Given the description of an element on the screen output the (x, y) to click on. 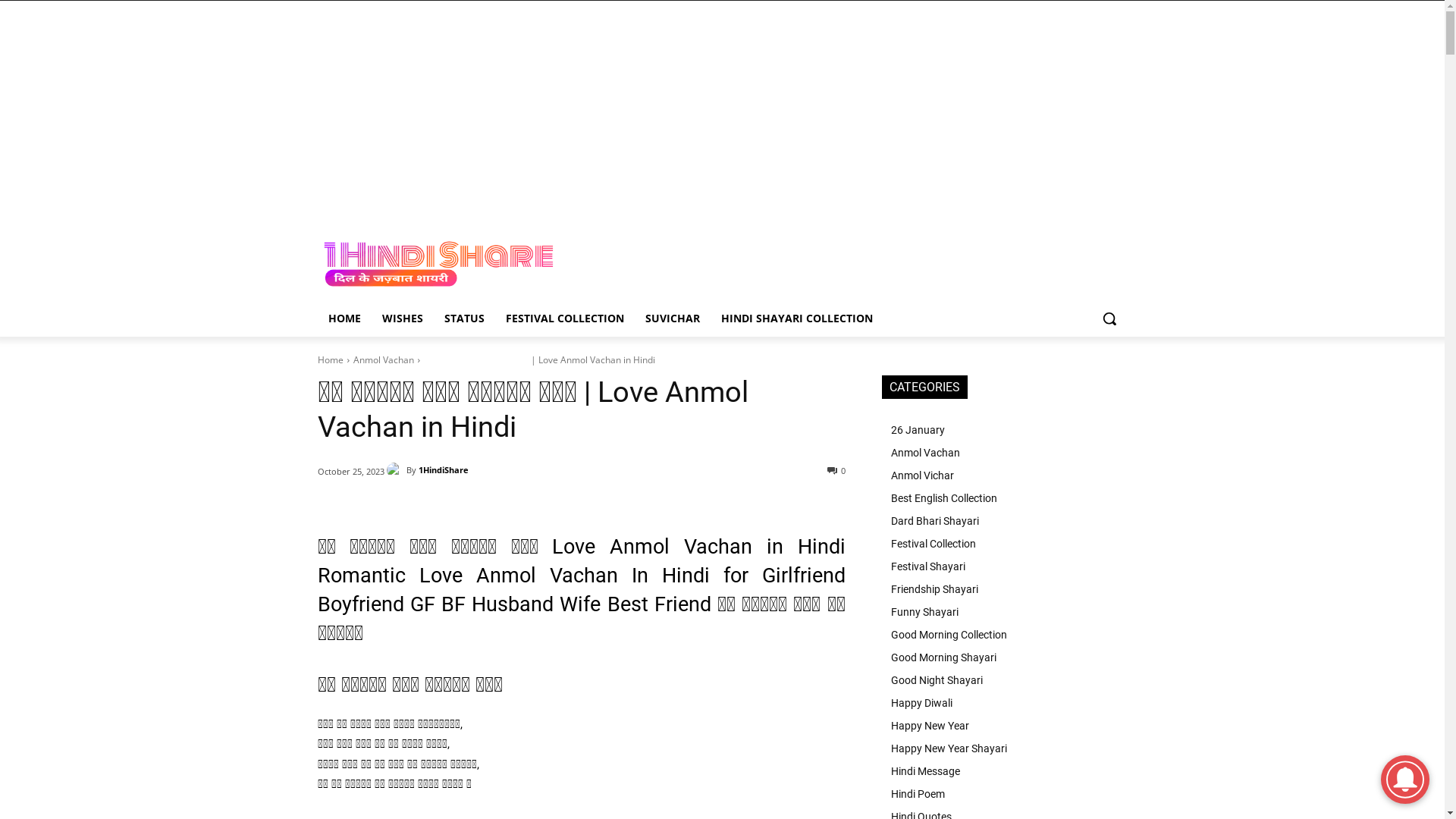
0 Element type: text (835, 469)
Good Night Shayari Element type: text (1003, 679)
26 January Element type: text (1003, 429)
WISHES Element type: text (402, 318)
FESTIVAL COLLECTION Element type: text (563, 318)
Friendship Shayari Element type: text (1003, 588)
Happy New Year Element type: text (1003, 725)
Happy Diwali Element type: text (1003, 702)
Home Element type: text (329, 359)
SUVICHAR Element type: text (671, 318)
Good Morning Shayari Element type: text (1003, 657)
Happy New Year Shayari Element type: text (1003, 748)
Good Morning Collection Element type: text (1003, 634)
Hindi Poem Element type: text (1003, 793)
Festival Collection Element type: text (1003, 543)
HOME Element type: text (343, 318)
Hindi Message Element type: text (1003, 770)
Funny Shayari Element type: text (1003, 611)
Dard Bhari Shayari Element type: text (1003, 520)
Anmol Vachan Element type: text (1003, 452)
Advertisement Element type: hover (721, 106)
1HindiShare Element type: hover (396, 469)
Festival Shayari Element type: text (1003, 566)
Anmol Vichar Element type: text (1003, 475)
Anmol Vachan Element type: text (383, 359)
Best English Collection Element type: text (1003, 497)
STATUS Element type: text (464, 318)
1HindiShare Element type: text (443, 469)
HINDI SHAYARI COLLECTION Element type: text (795, 318)
